Given the description of an element on the screen output the (x, y) to click on. 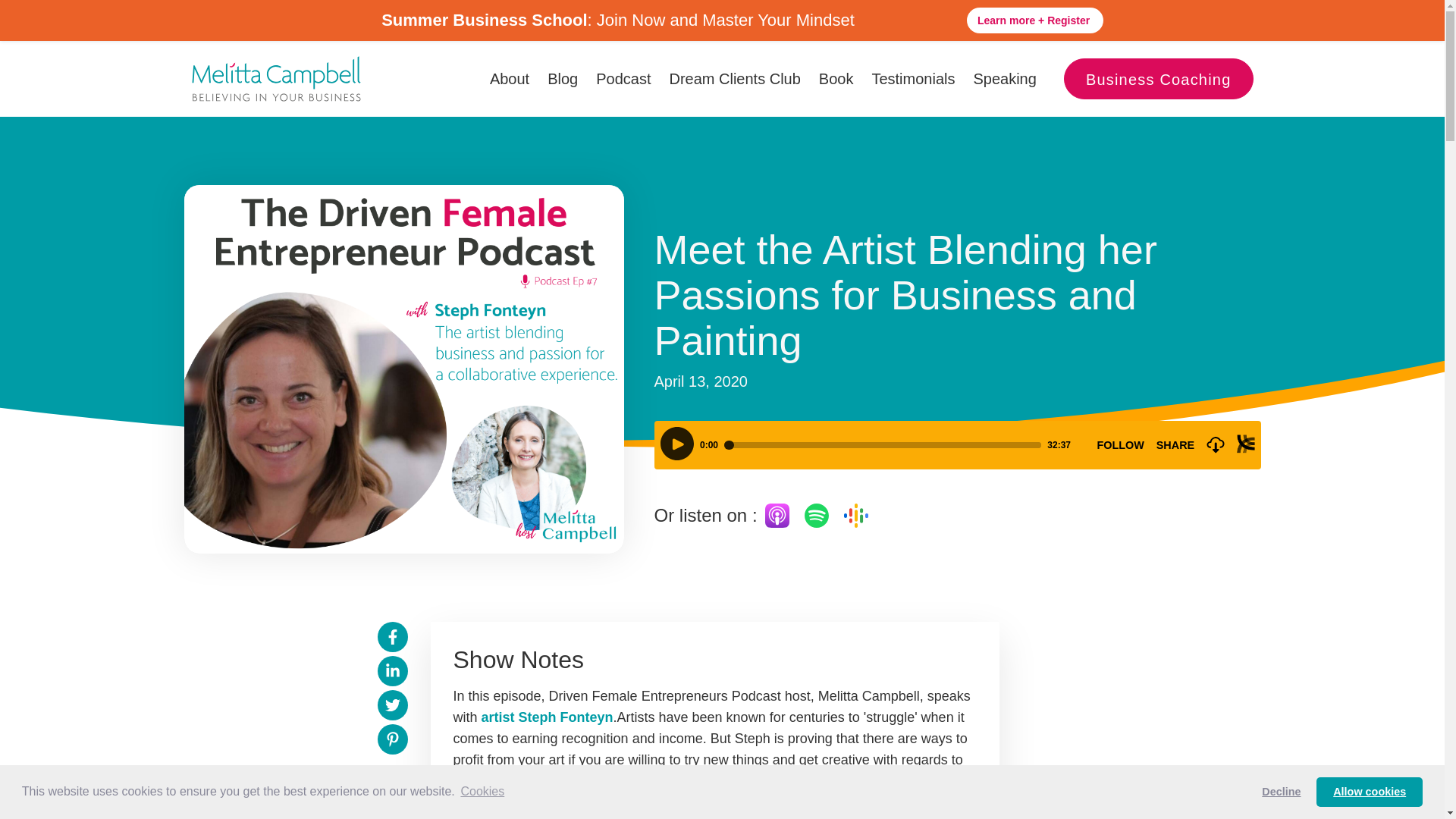
Decline (1281, 791)
Dream Clients Club (734, 78)
Book (836, 78)
Blog (562, 78)
About (509, 78)
Allow cookies (1369, 791)
Cookies (482, 791)
Business Coaching (1158, 78)
Speaking (1004, 78)
Testimonials (912, 78)
Podcast (622, 78)
